Given the description of an element on the screen output the (x, y) to click on. 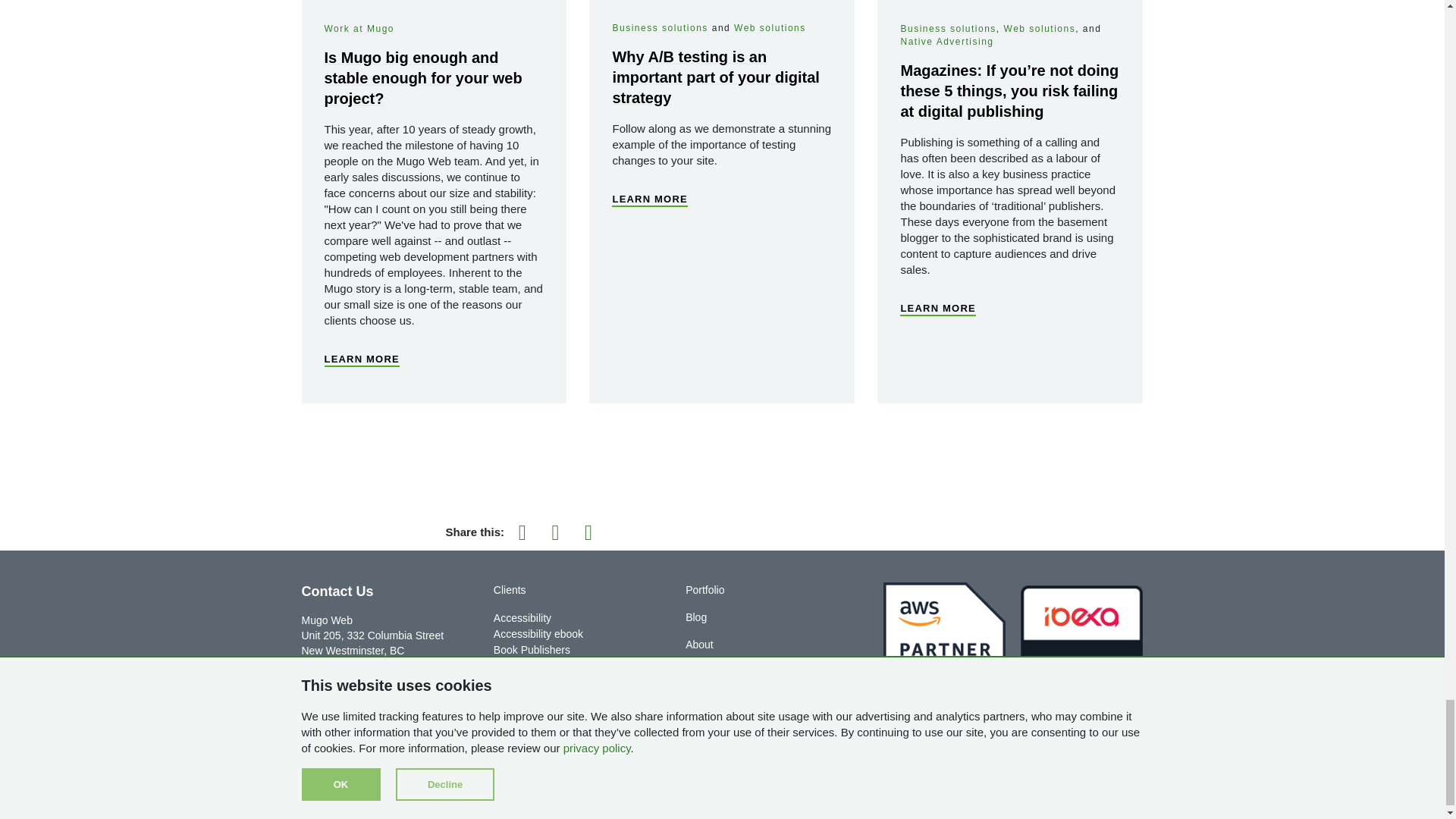
Is Mugo big enough and stable enough for your web project? (423, 78)
LEARN MORE (361, 356)
Work at Mugo (359, 28)
